Given the description of an element on the screen output the (x, y) to click on. 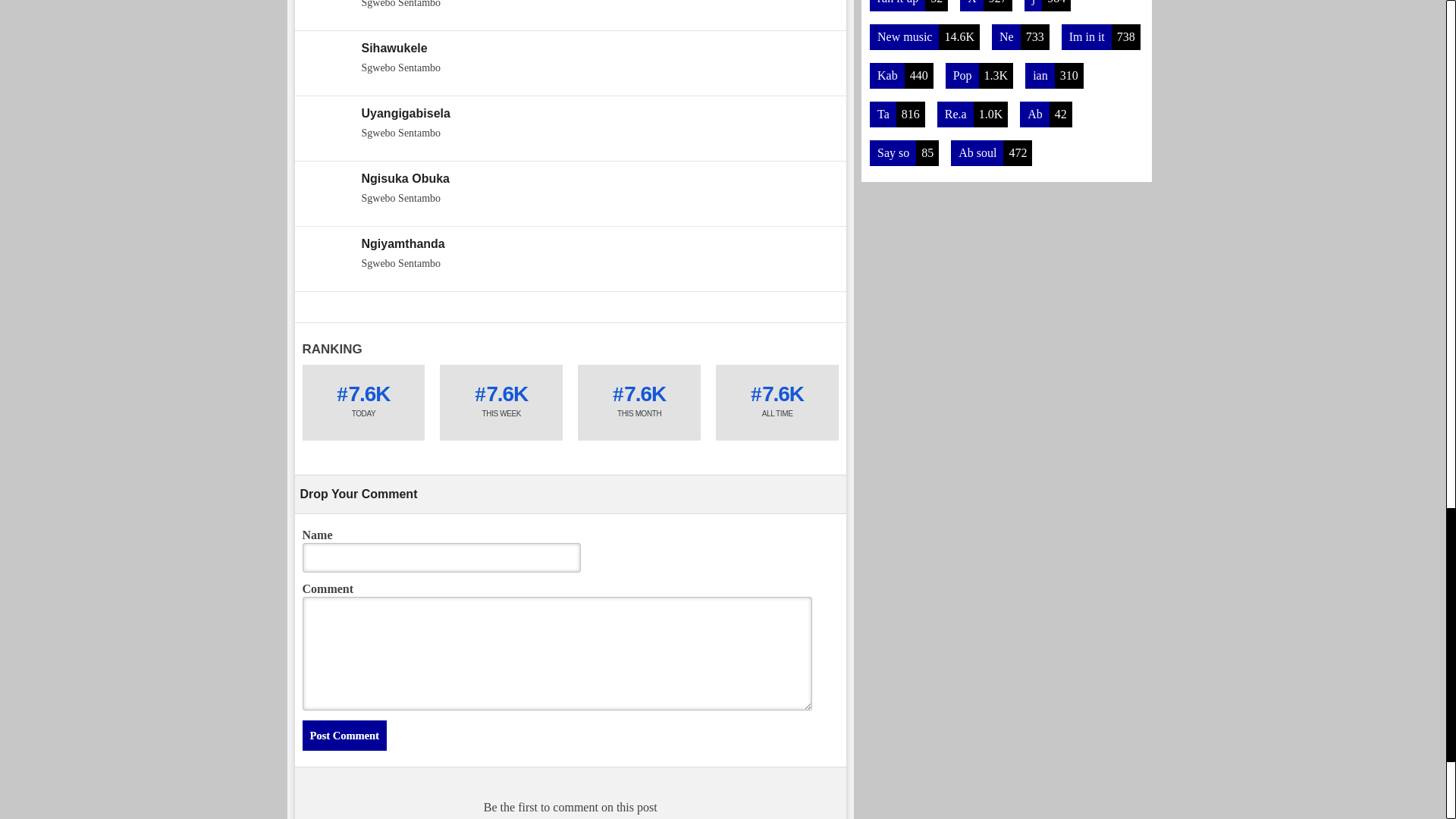
Post Comment (569, 63)
